Given the description of an element on the screen output the (x, y) to click on. 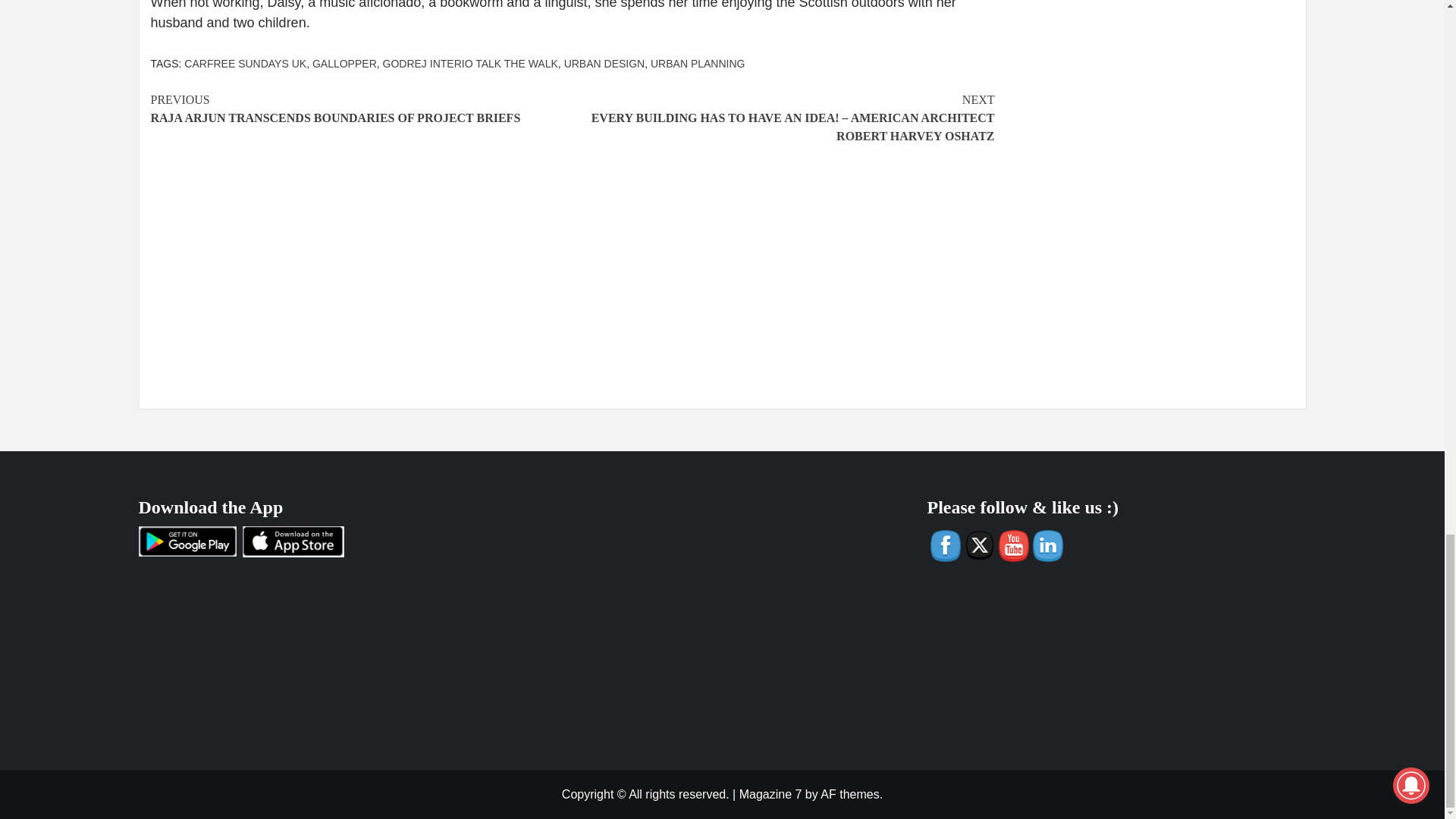
CARFREE SUNDAYS UK (244, 63)
Facebook (360, 108)
Magazine 7 (945, 545)
LinkedIn (770, 793)
Twitter (1047, 545)
URBAN PLANNING (978, 544)
GODREJ INTERIO TALK THE WALK (697, 63)
GALLOPPER (469, 63)
URBAN DESIGN (345, 63)
YOUTUBE (604, 63)
